Given the description of an element on the screen output the (x, y) to click on. 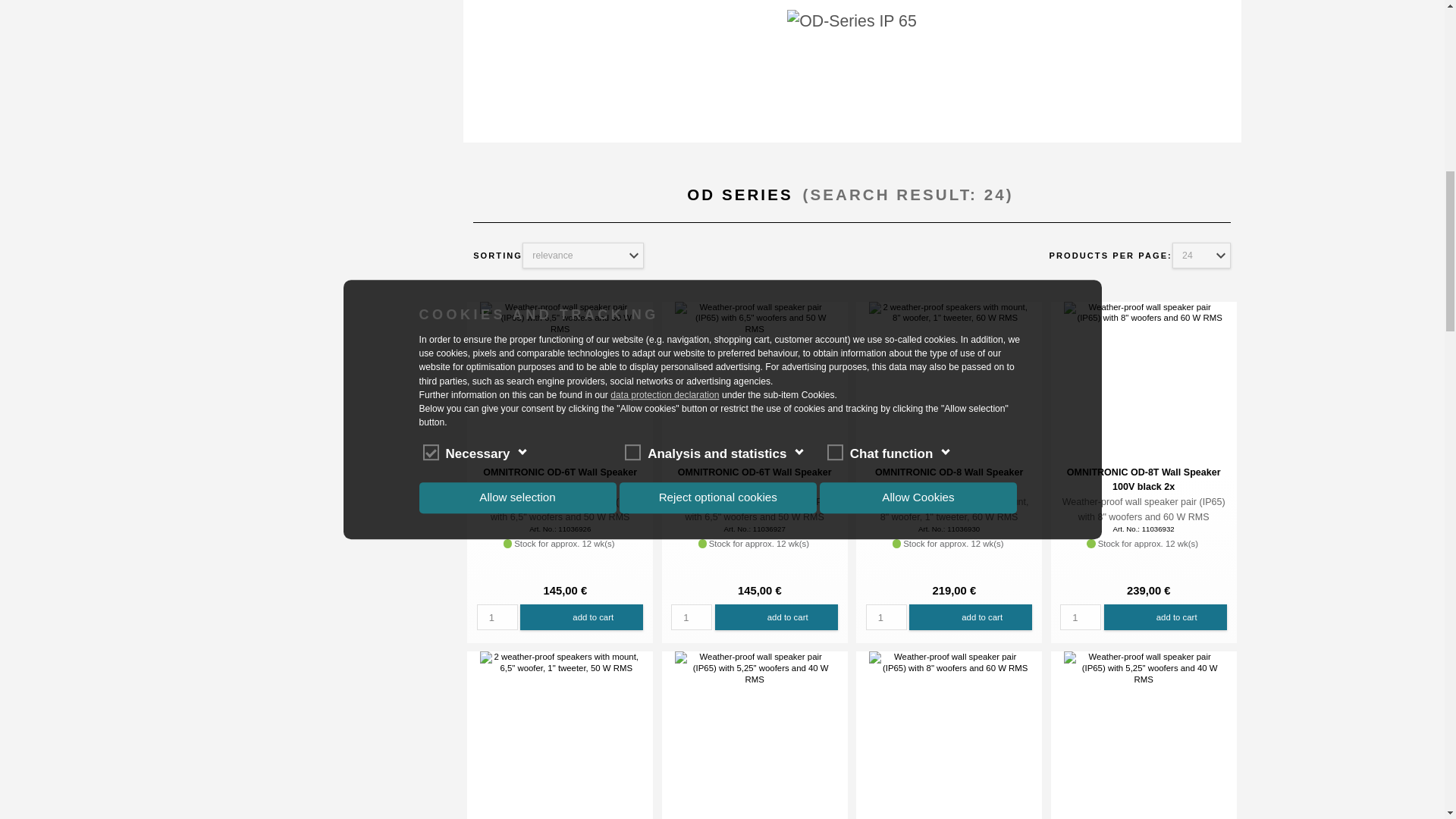
1 (1079, 616)
1 (497, 616)
OMNITRONIC OD-5T Wall Speaker 100V black 2x (754, 667)
OMNITRONIC OD-5T Wall Speaker 100V white 2x (1144, 667)
OMNITRONIC OD-6 Wall Speaker 8Ohm black 2x (560, 662)
OMNITRONIC OD-6T Wall Speaker 100V white 2x (754, 318)
OMNITRONIC OD-8 Wall Speaker 8Ohm black 2x (949, 313)
OMNITRONIC OD-8T Wall Speaker 100V black 2x (1144, 313)
1 (691, 616)
OMNITRONIC OD-6T Wall Speaker 100V black 2x (560, 318)
